Given the description of an element on the screen output the (x, y) to click on. 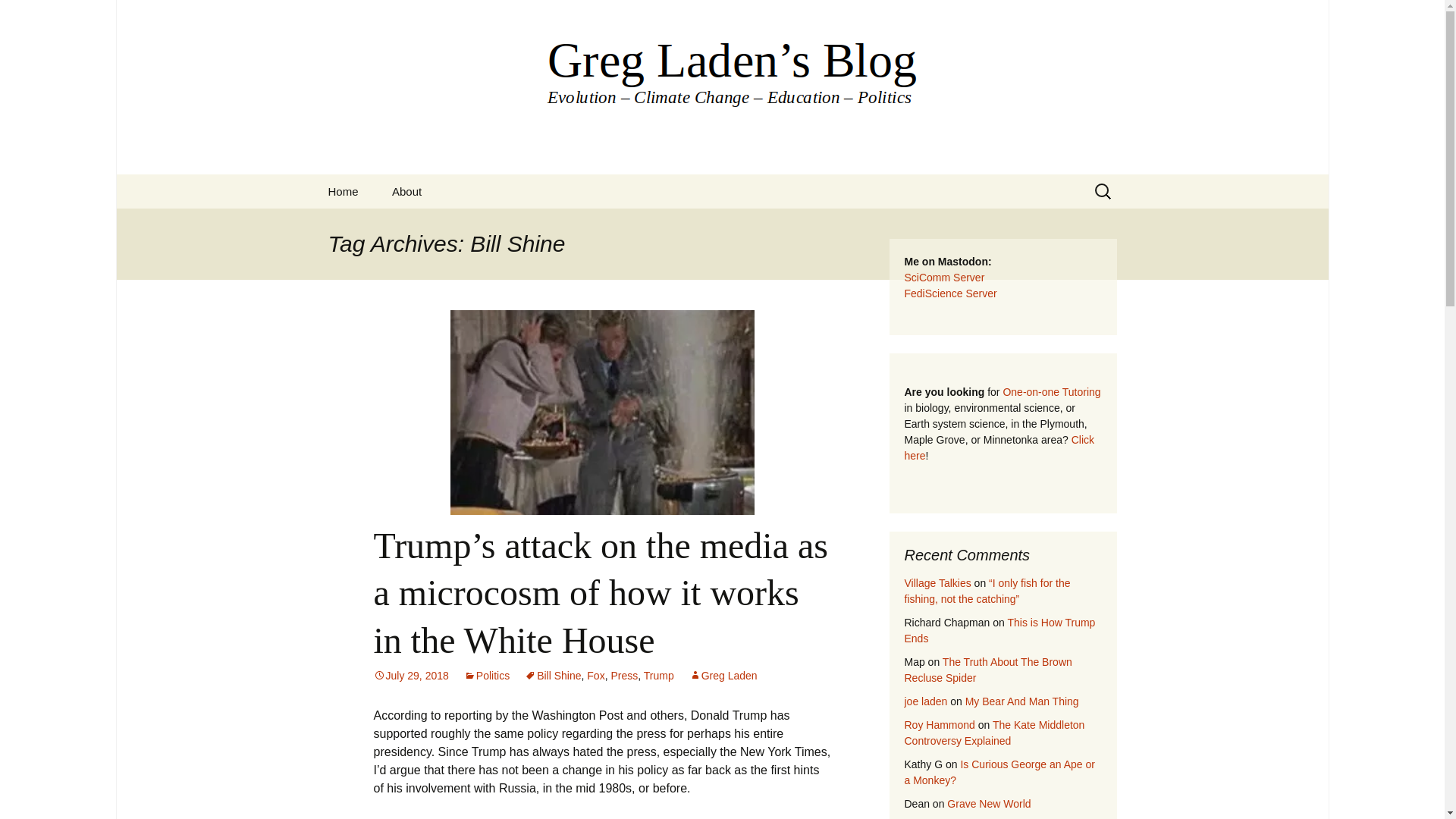
Bill Shine (552, 675)
Fox (595, 675)
This is How Trump Ends (999, 630)
The Kate Middleton Controversy Explained (994, 732)
FediScience Server (949, 293)
View all posts by Greg Laden (722, 675)
Trump (658, 675)
Grave New World (988, 803)
The Truth About The Brown Recluse Spider (987, 669)
Press (623, 675)
One-on-one Tutoring (1051, 391)
Politics (486, 675)
Roy Hammond (939, 725)
